Given the description of an element on the screen output the (x, y) to click on. 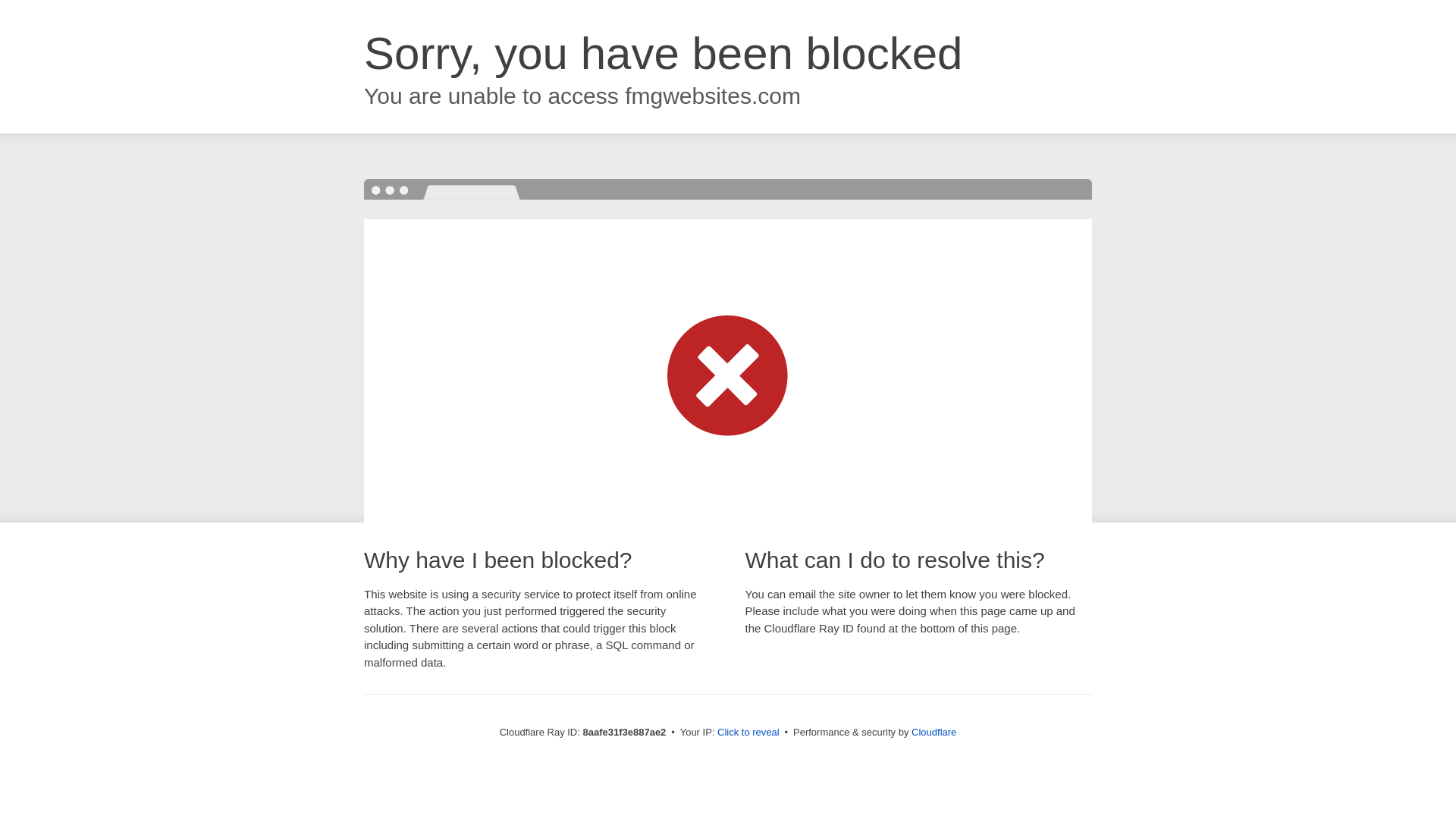
Click to reveal (747, 732)
Cloudflare (933, 731)
